Given the description of an element on the screen output the (x, y) to click on. 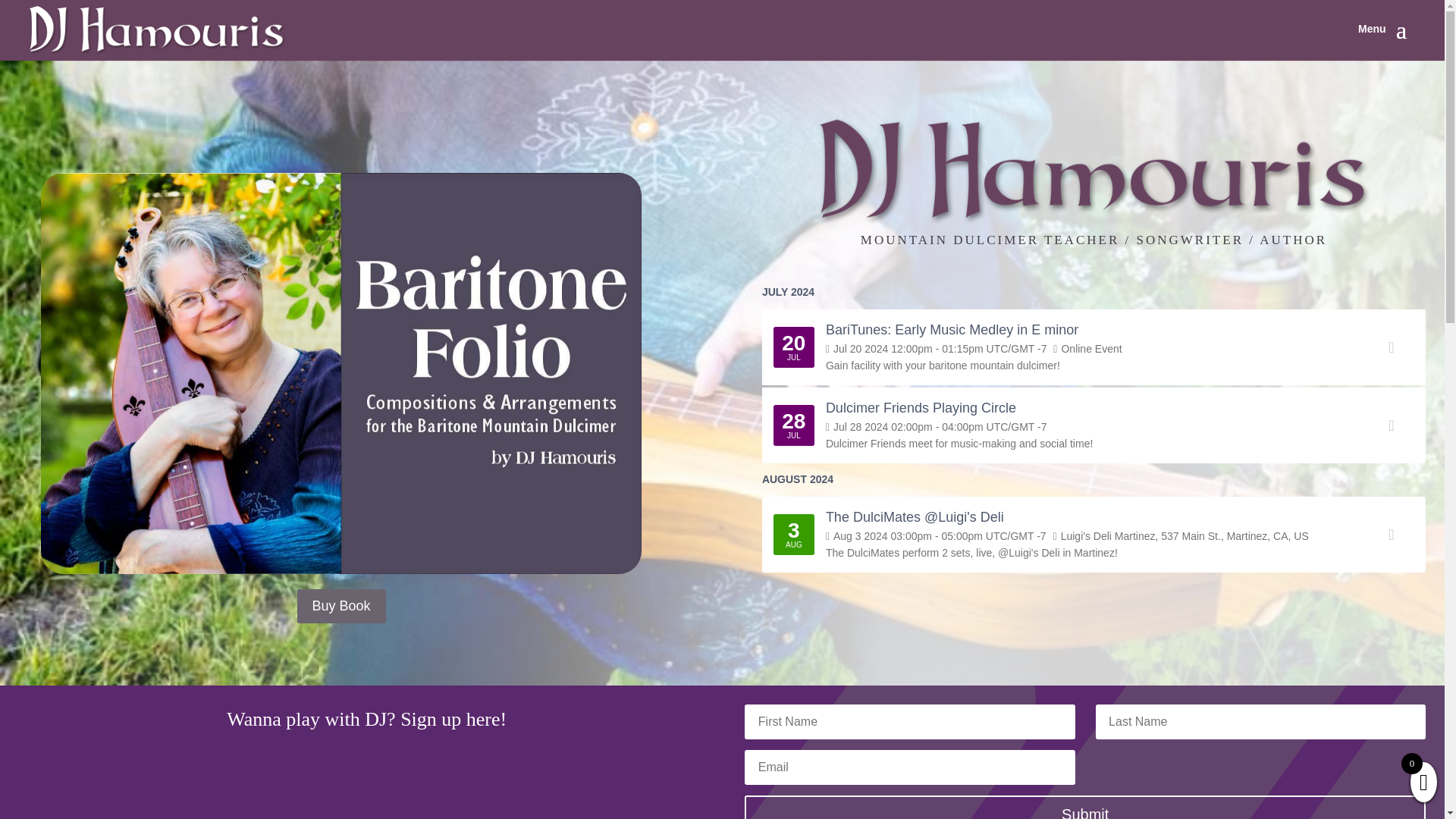
Submit (1084, 807)
DJ Hamouris Text Logo 2021 - Purple Shadow - APPROVED (1093, 171)
